Given the description of an element on the screen output the (x, y) to click on. 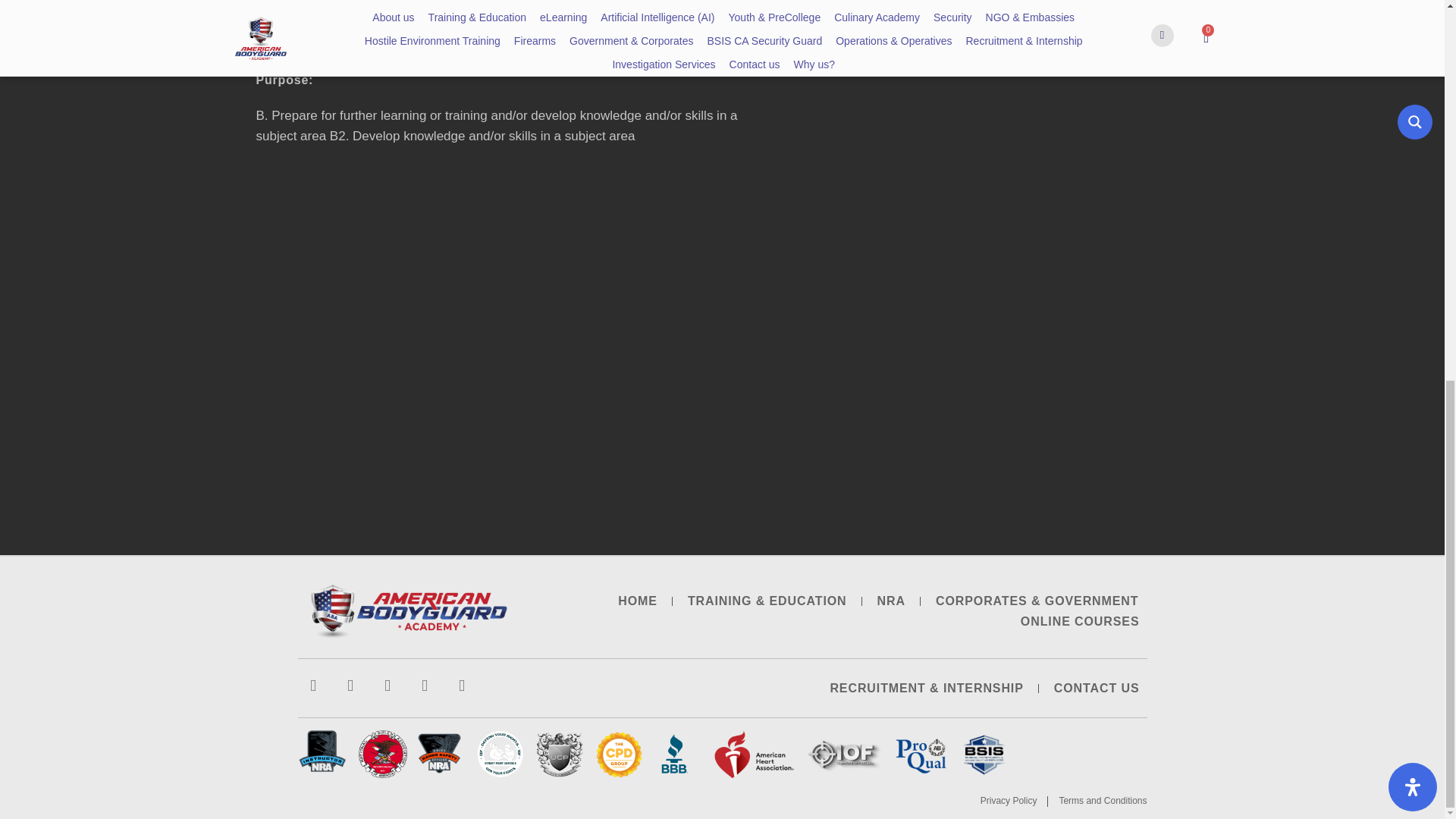
Accessibility (1413, 78)
